Given the description of an element on the screen output the (x, y) to click on. 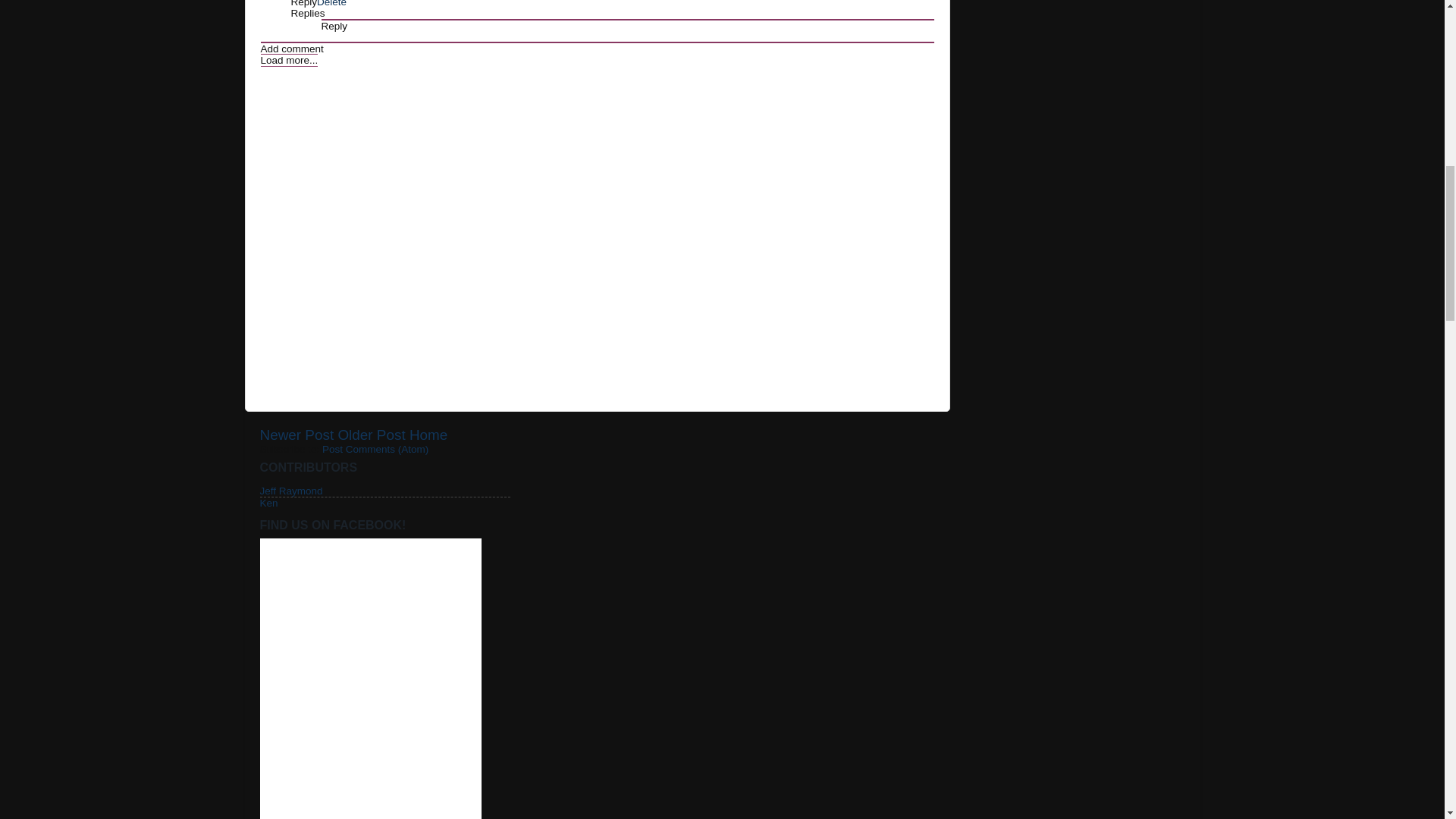
Home (427, 434)
Reply (304, 3)
Ken (268, 502)
Older Post (370, 434)
Reply (334, 25)
Load more... (289, 60)
Newer Post (296, 434)
Jeff Raymond (290, 490)
Replies (307, 12)
Older Post (370, 434)
Delete (331, 3)
Newer Post (296, 434)
Add comment (291, 48)
